Given the description of an element on the screen output the (x, y) to click on. 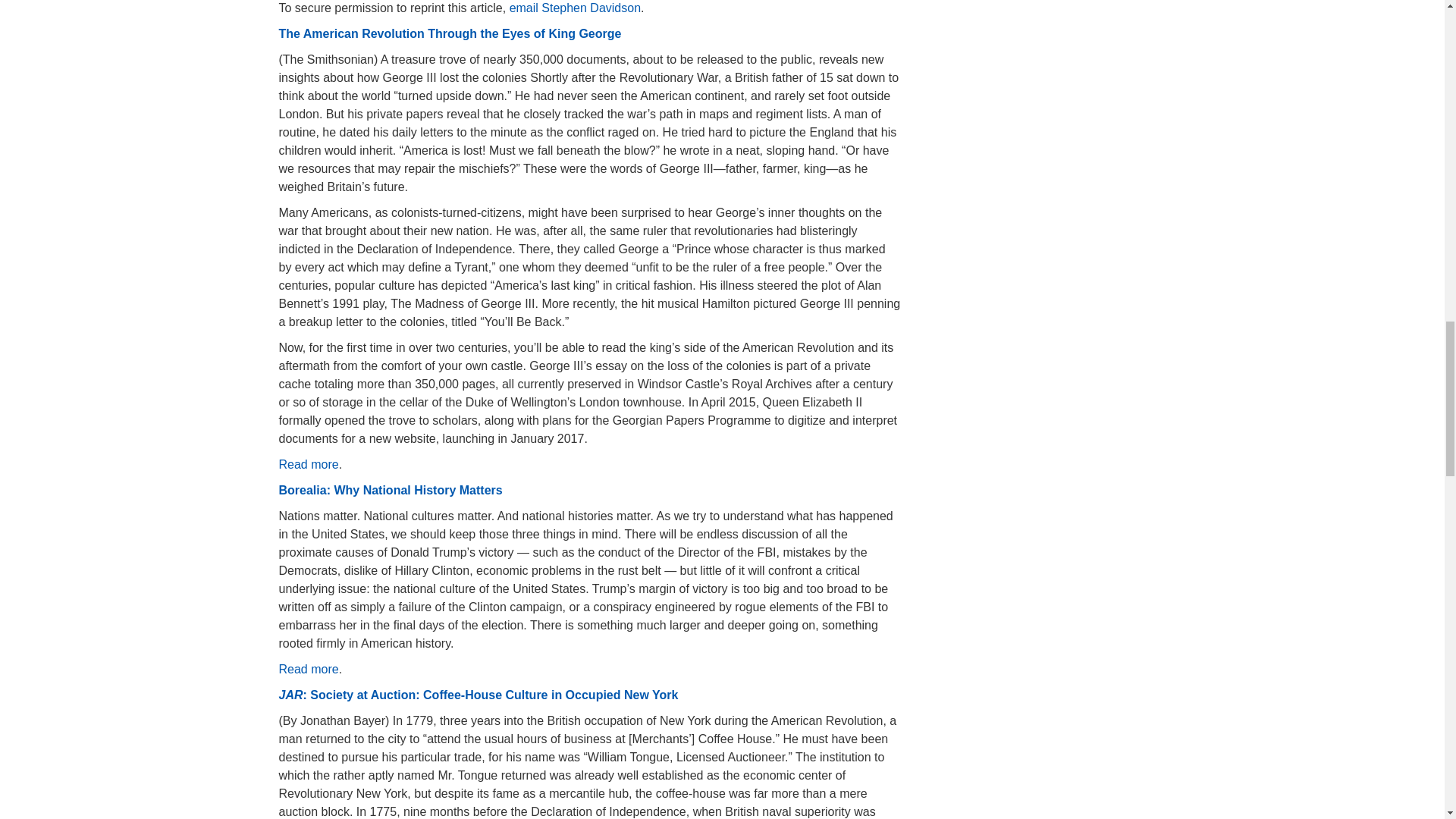
Borealia: Why National History Matters (390, 490)
Read more (309, 463)
The American Revolution Through the Eyes of King George (450, 33)
email Stephen Davidson (574, 7)
Read more (309, 668)
